Given the description of an element on the screen output the (x, y) to click on. 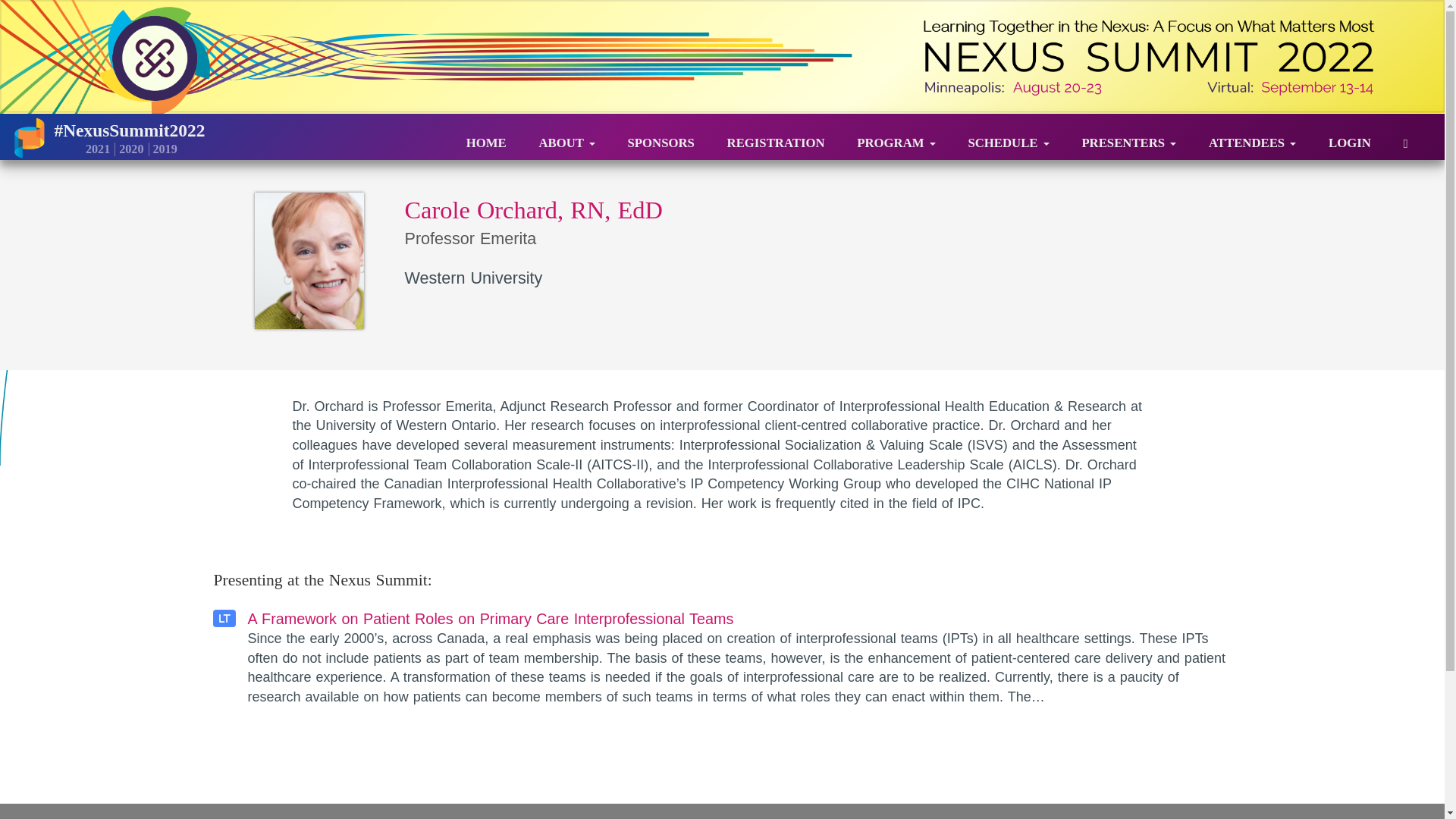
Lightning Talk (738, 657)
2019 (162, 149)
PRESENTERS (1129, 137)
SCHEDULE (1007, 137)
National Center for Interprofessional Practice and Education (29, 136)
2020 (128, 149)
HOME (486, 137)
ABOUT (566, 137)
PROGRAM (896, 137)
2021 (95, 149)
SPONSORS (660, 137)
REGISTRATION (775, 137)
